Given the description of an element on the screen output the (x, y) to click on. 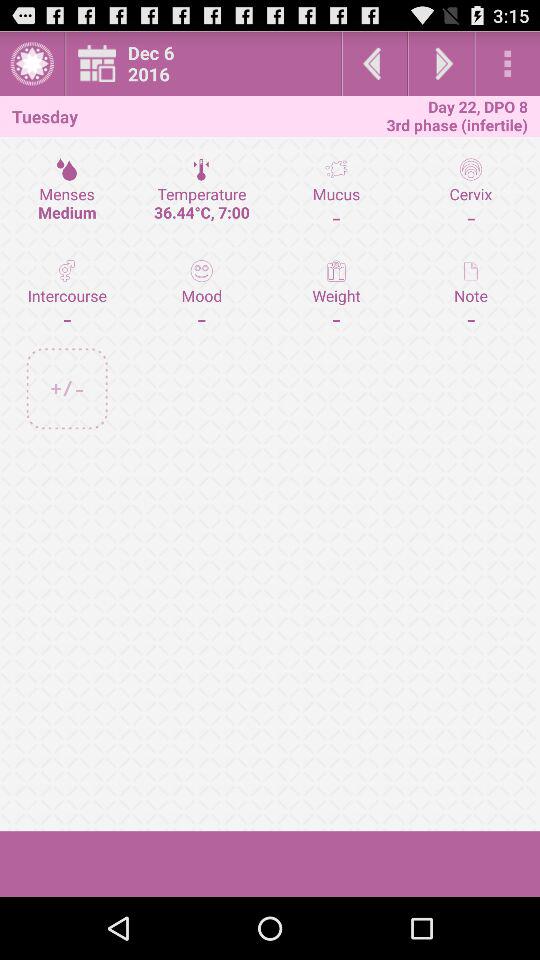
open settings (507, 63)
